Given the description of an element on the screen output the (x, y) to click on. 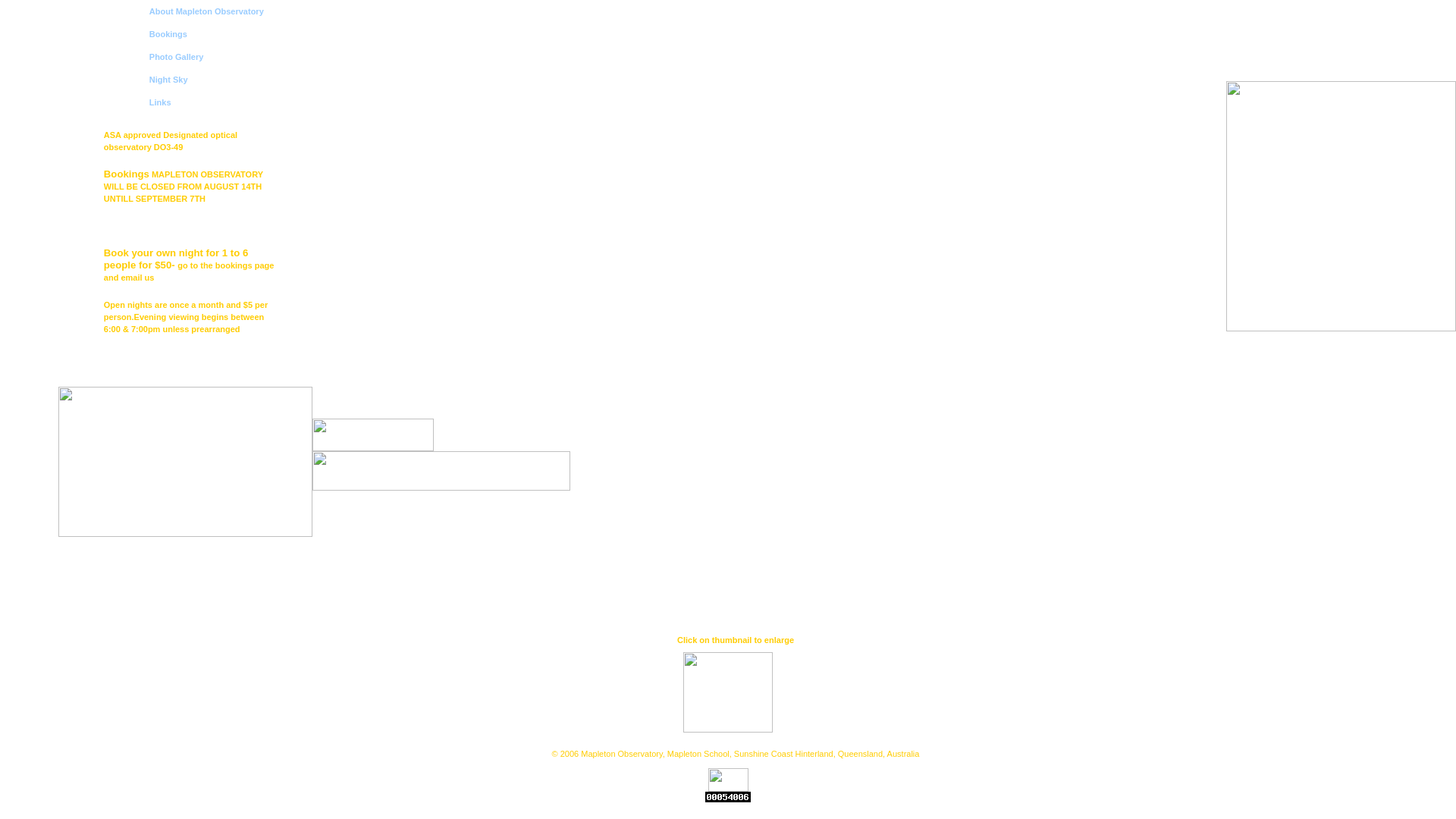
Photo Gallery Element type: text (176, 56)
Bookings Element type: text (168, 33)
About Mapleton Observatory Element type: text (206, 10)
Links Element type: text (160, 101)
Night Sky Element type: text (168, 79)
